Given the description of an element on the screen output the (x, y) to click on. 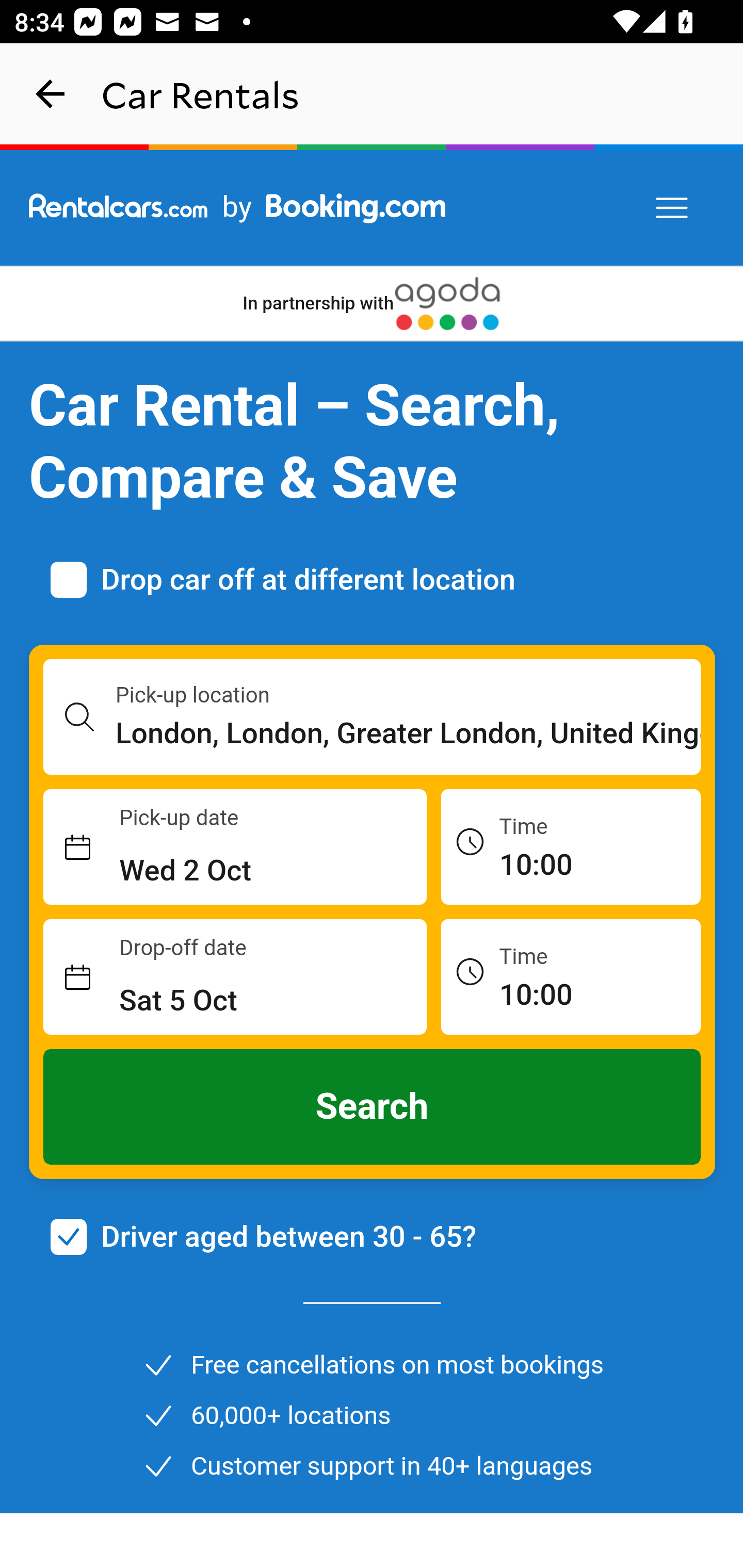
navigation_button (50, 93)
